Given the description of an element on the screen output the (x, y) to click on. 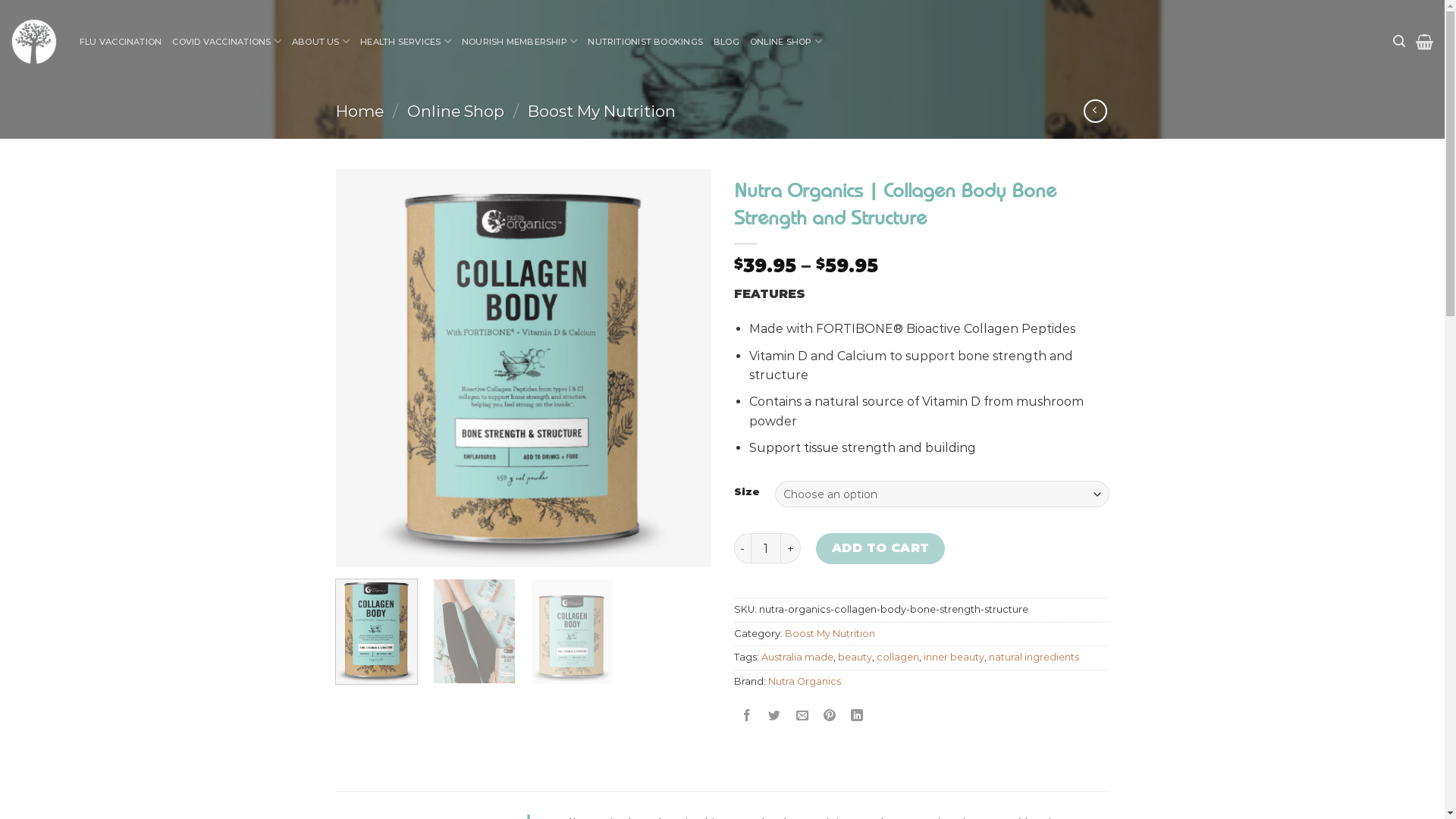
collagen Element type: text (897, 656)
ADD TO CART Element type: text (879, 548)
Share on LinkedIn Element type: hover (856, 715)
Nutra Organics Element type: text (803, 681)
ONLINE SHOP Element type: text (785, 41)
Share on Twitter Element type: hover (774, 715)
HEALTH SERVICES Element type: text (405, 41)
inner beauty Element type: text (953, 656)
NUTRITIONIST BOOKINGS Element type: text (644, 41)
BLOG Element type: text (726, 41)
Pin on Pinterest Element type: hover (828, 715)
FLU VACCINATION Element type: text (120, 41)
NOURISH MEMBERSHIP Element type: text (519, 41)
Home Element type: text (358, 110)
ABOUT US Element type: text (320, 41)
beauty Element type: text (854, 656)
Online Shop Element type: text (455, 110)
Australia made Element type: text (797, 656)
COVID VACCINATIONS Element type: text (226, 41)
Share on Facebook Element type: hover (746, 715)
Email to a Friend Element type: hover (801, 715)
Boost My Nutrition Element type: text (601, 110)
Cart Element type: hover (1424, 41)
Boost My Nutrition Element type: text (829, 633)
natural ingredients Element type: text (1033, 656)
